Given the description of an element on the screen output the (x, y) to click on. 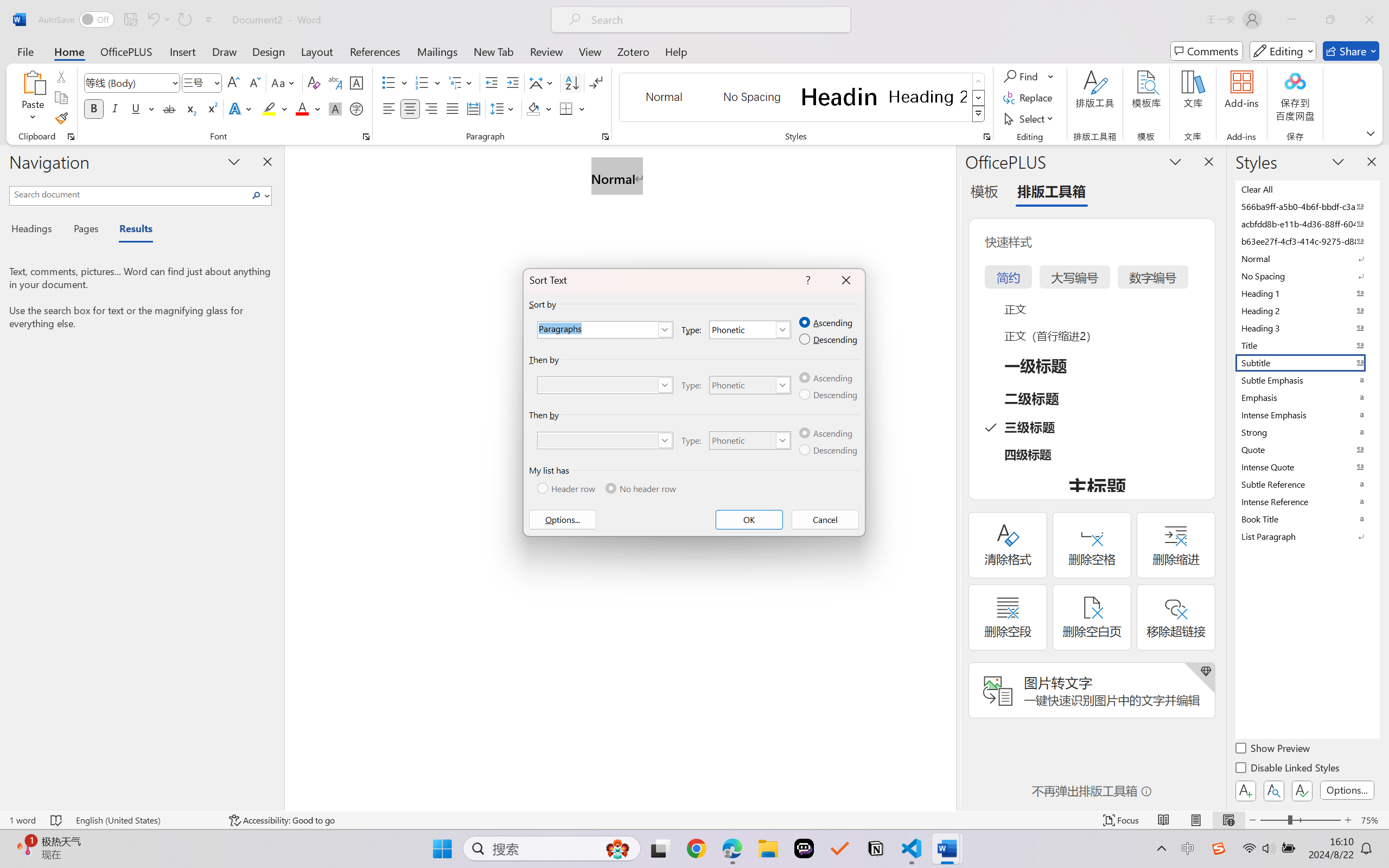
Undo Style (152, 19)
RichEdit Control (598, 440)
Web Layout (1228, 819)
Align Left (388, 108)
Comments (1206, 50)
Superscript (210, 108)
No Spacing (1306, 275)
Class: MsoCommandBar (694, 819)
